Given the description of an element on the screen output the (x, y) to click on. 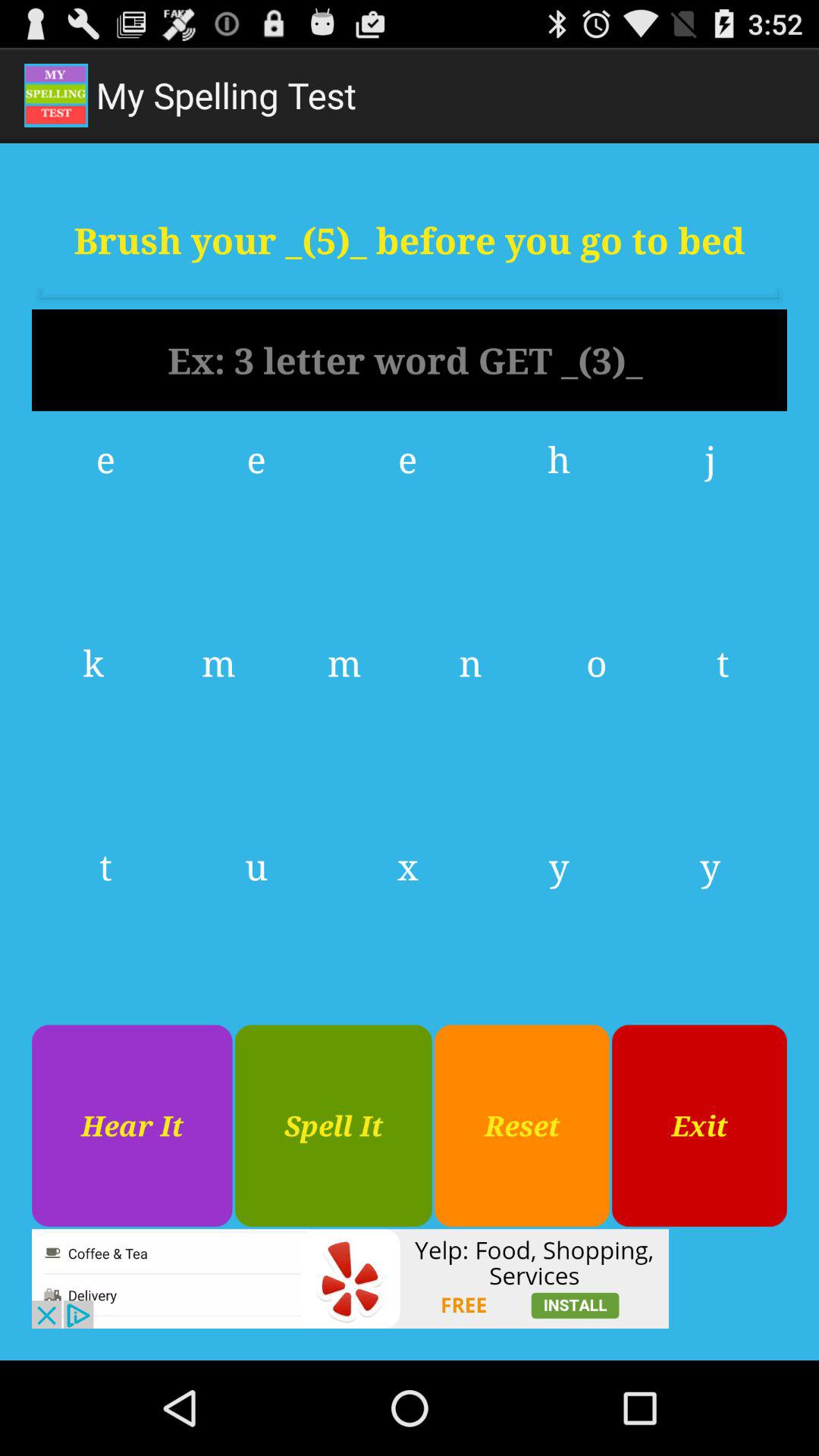
text box (409, 360)
